Given the description of an element on the screen output the (x, y) to click on. 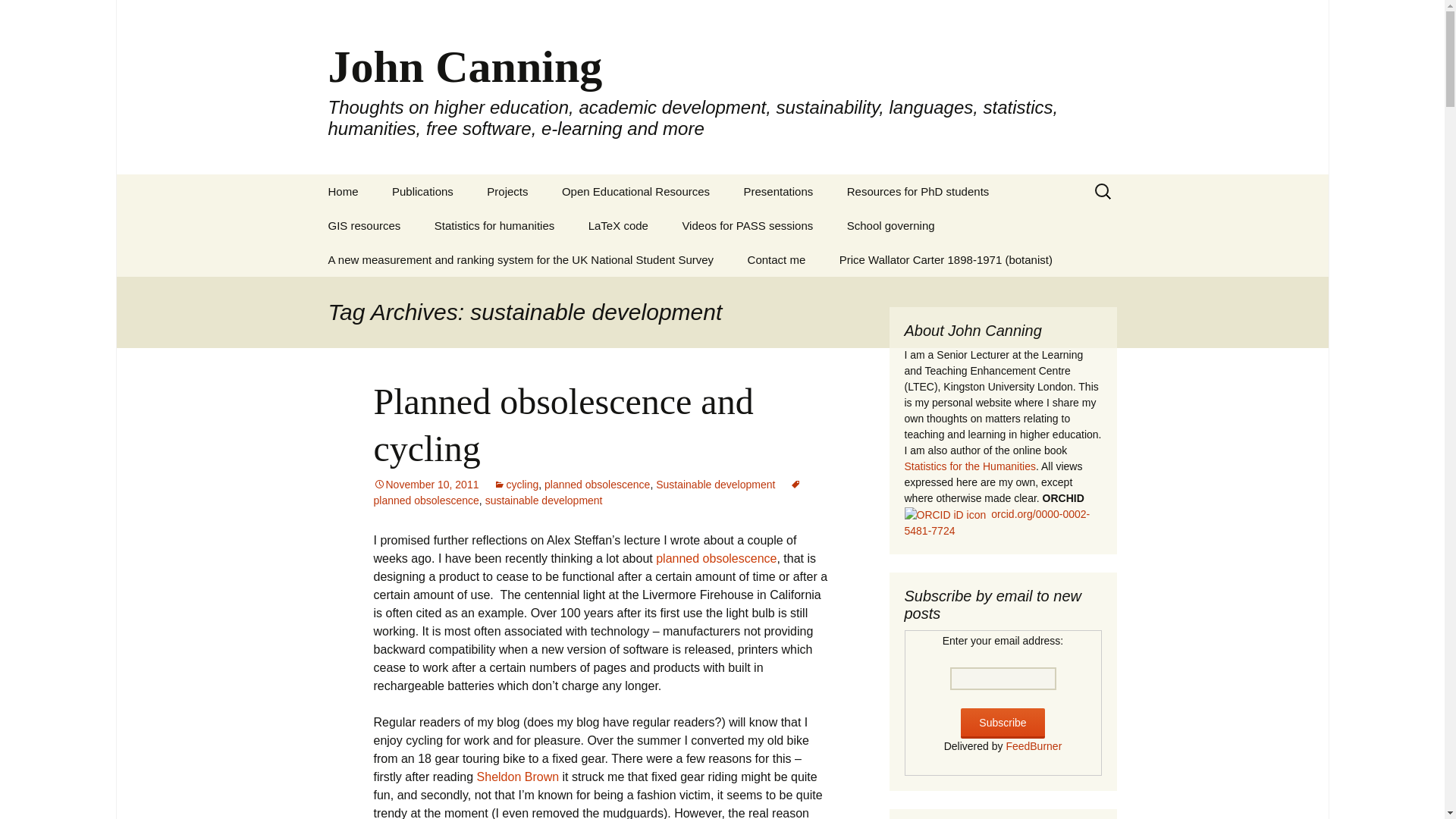
planned obsolescence (587, 492)
School governing (890, 225)
Contact me (776, 259)
Sheldon Brown (518, 776)
planned obsolescence (596, 484)
Sustainable development (715, 484)
Search (18, 15)
November 10, 2011 (425, 484)
GIS resources (363, 225)
Planned obsolescence and cycling (562, 424)
planned obsolescence (716, 558)
Projects (507, 191)
Presentations (778, 191)
